Given the description of an element on the screen output the (x, y) to click on. 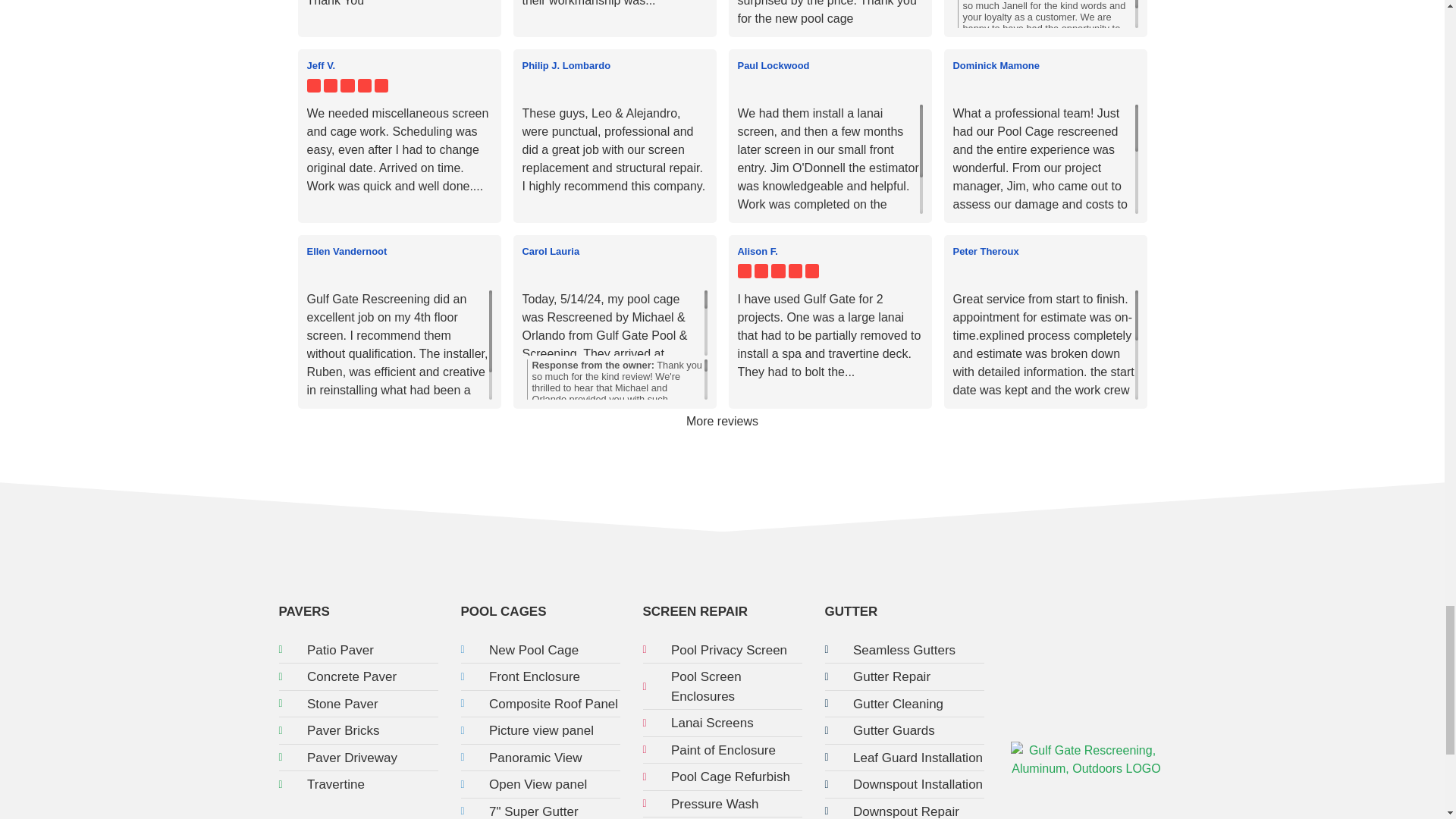
Dominick Mamone (995, 65)
Philip J. Lombardo (565, 65)
Carol Lauria (613, 250)
Peter Theroux (1044, 250)
Alison F. (828, 250)
Jeff V. (398, 65)
Philip J. Lombardo (613, 65)
